Given the description of an element on the screen output the (x, y) to click on. 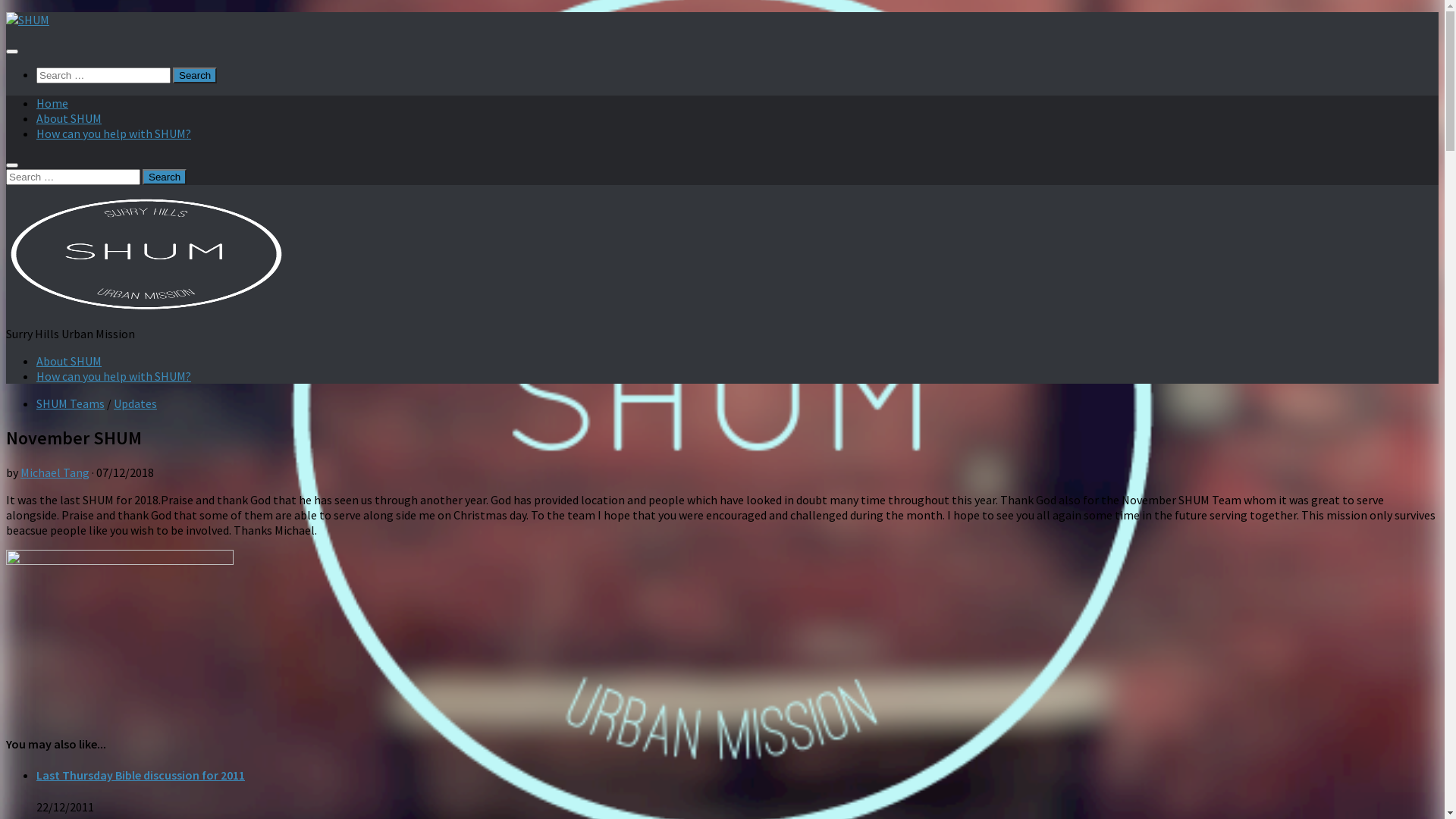
Skip to content Element type: text (5, 11)
Menu Element type: hover (12, 51)
Search Element type: text (164, 177)
SHUM | Home page Element type: hover (145, 305)
SHUM Teams Element type: text (70, 403)
Home Element type: text (52, 102)
Search Element type: text (194, 75)
Last Thursday Bible discussion for 2011 Element type: text (140, 774)
About SHUM Element type: text (68, 117)
Michael Tang Element type: text (54, 472)
SHUM | Home page Element type: hover (27, 19)
About SHUM Element type: text (68, 360)
How can you help with SHUM? Element type: text (113, 133)
Updates Element type: text (134, 403)
How can you help with SHUM? Element type: text (113, 375)
